Given the description of an element on the screen output the (x, y) to click on. 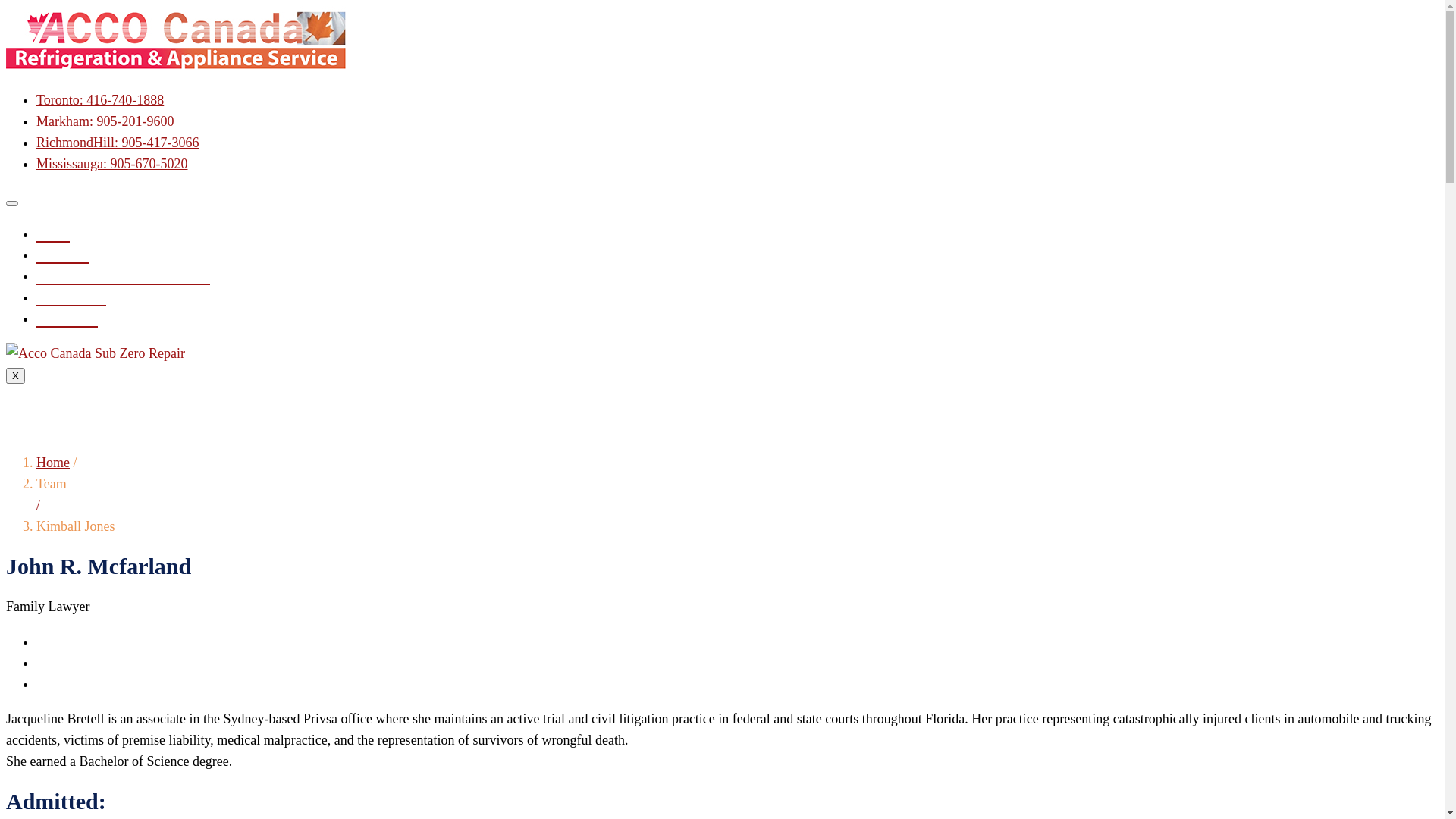
Home Element type: text (52, 233)
About Us Element type: text (62, 255)
RichmondHill: 905-417-3066 Element type: text (117, 142)
Testimonials Element type: text (71, 297)
X Element type: text (15, 375)
Markham: 905-201-9600 Element type: text (104, 120)
Home Element type: text (52, 462)
Contact Us Element type: text (66, 318)
Toronto: 416-740-1888 Element type: text (99, 99)
Sub Zero Fridge Repair Service Element type: text (123, 276)
Mississauga: 905-670-5020 Element type: text (112, 163)
